Given the description of an element on the screen output the (x, y) to click on. 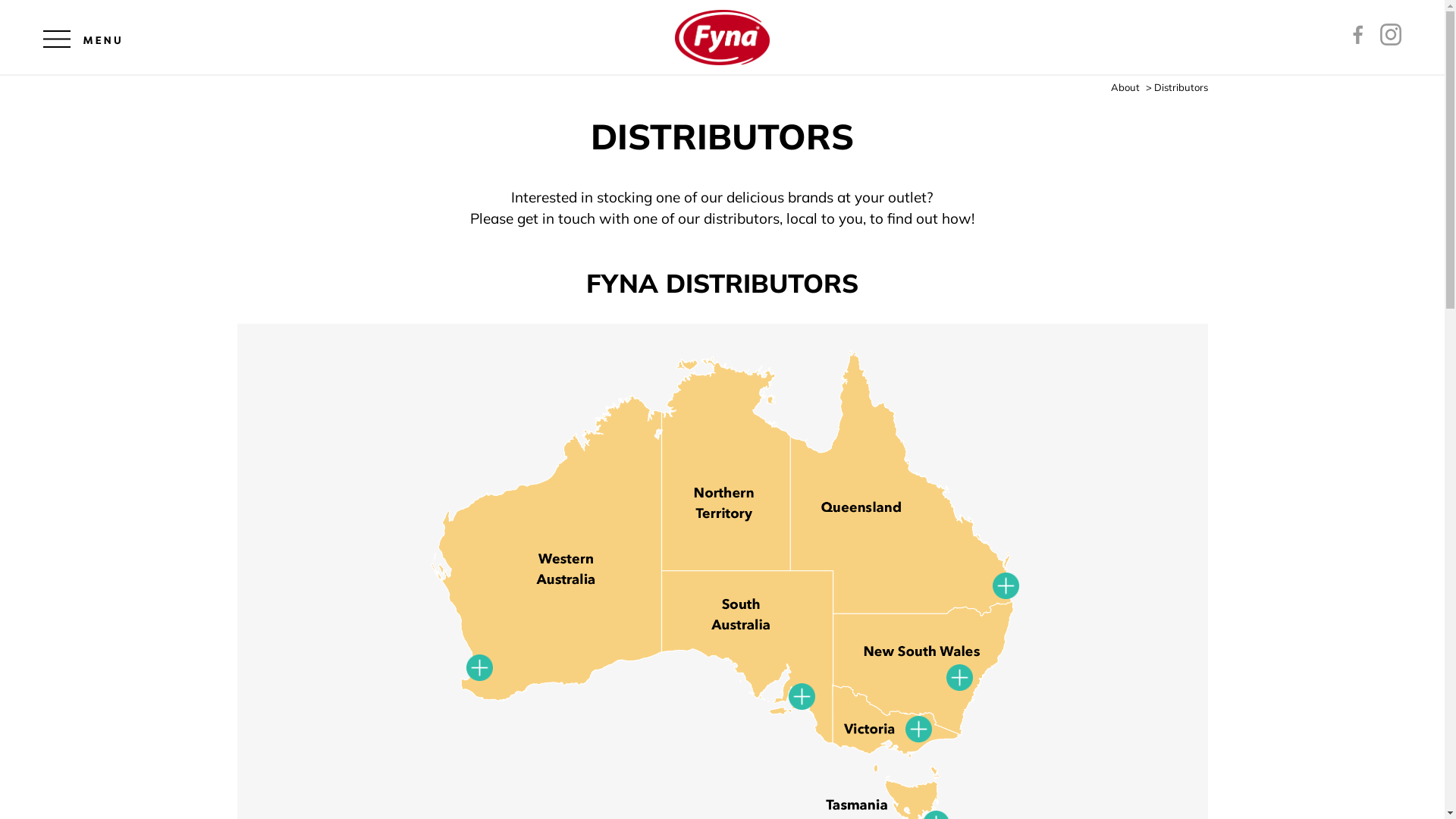
About Element type: text (1124, 87)
1 Element type: text (918, 728)
7 Element type: text (479, 667)
5 Element type: text (801, 696)
3 Element type: text (959, 677)
4 Element type: text (1005, 585)
